Given the description of an element on the screen output the (x, y) to click on. 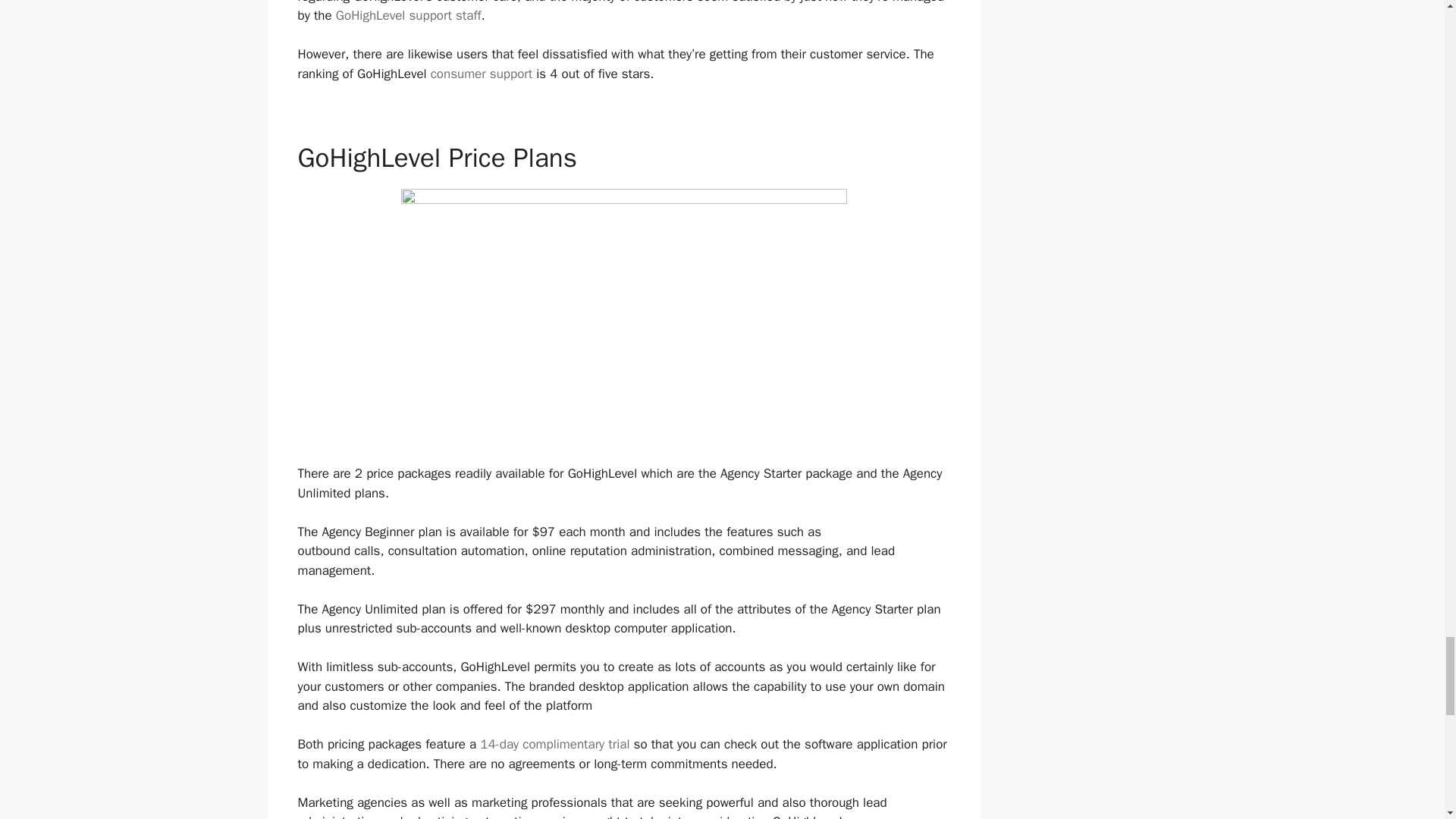
GoHighLevel support staff (408, 15)
14-day complimentary trial (554, 744)
consumer support (481, 73)
